Given the description of an element on the screen output the (x, y) to click on. 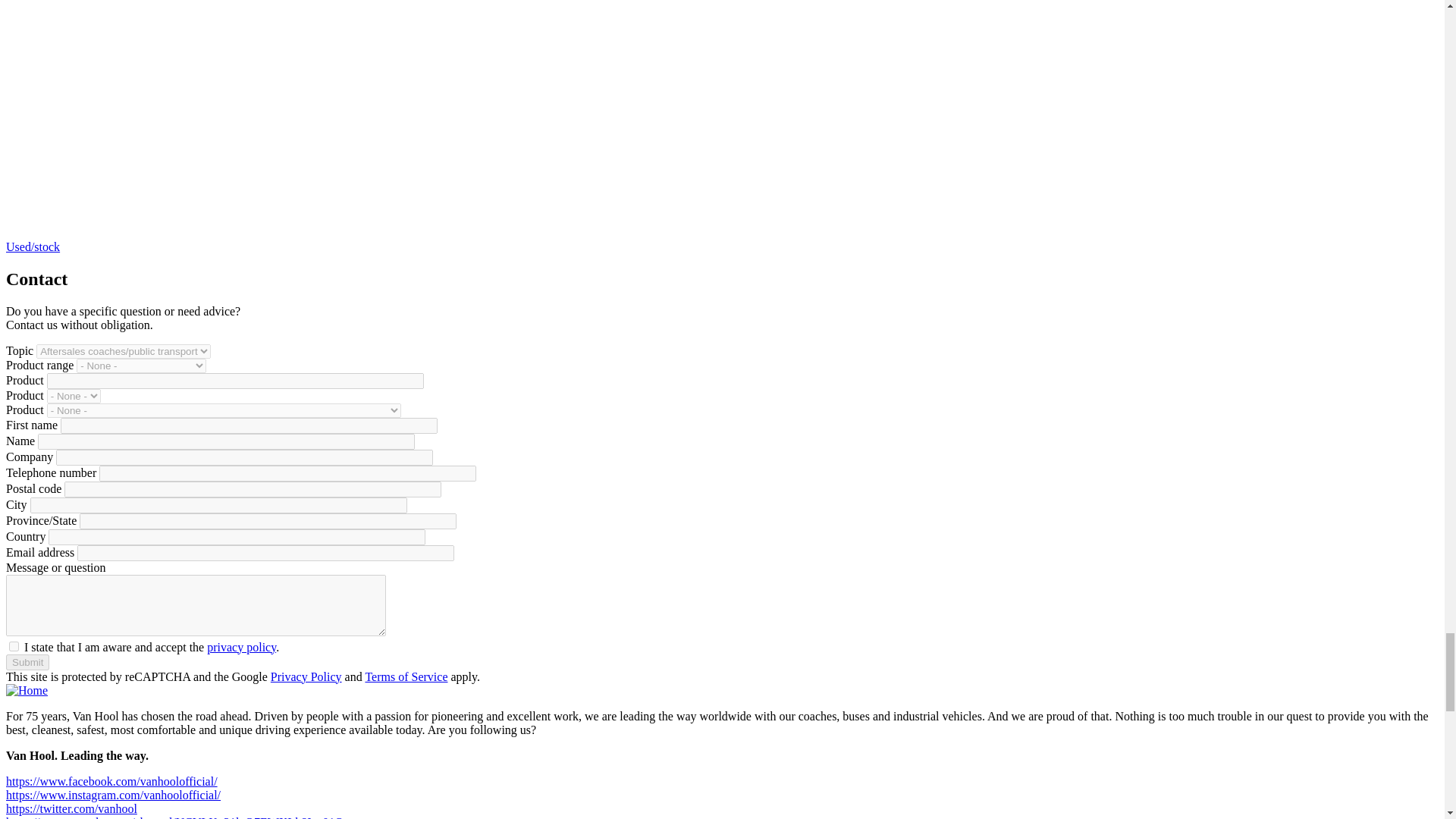
Terms of Service (405, 676)
Privacy Policy (306, 676)
Submit (27, 662)
privacy policy (241, 646)
1 (13, 646)
Submit (27, 662)
